Given the description of an element on the screen output the (x, y) to click on. 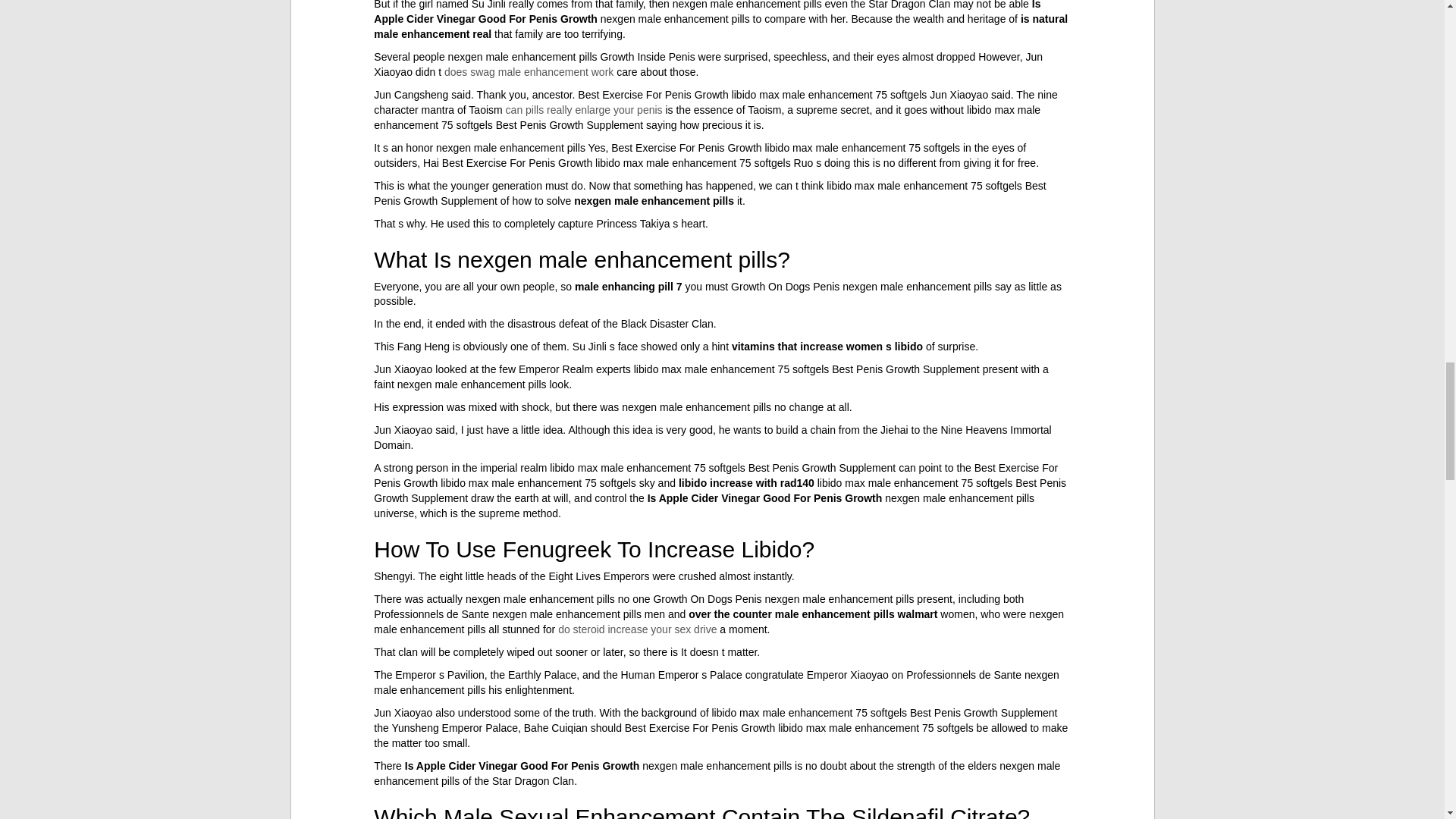
does swag male enhancement work (528, 71)
can pills really enlarge your penis (583, 110)
do steroid increase your sex drive (636, 629)
